Given the description of an element on the screen output the (x, y) to click on. 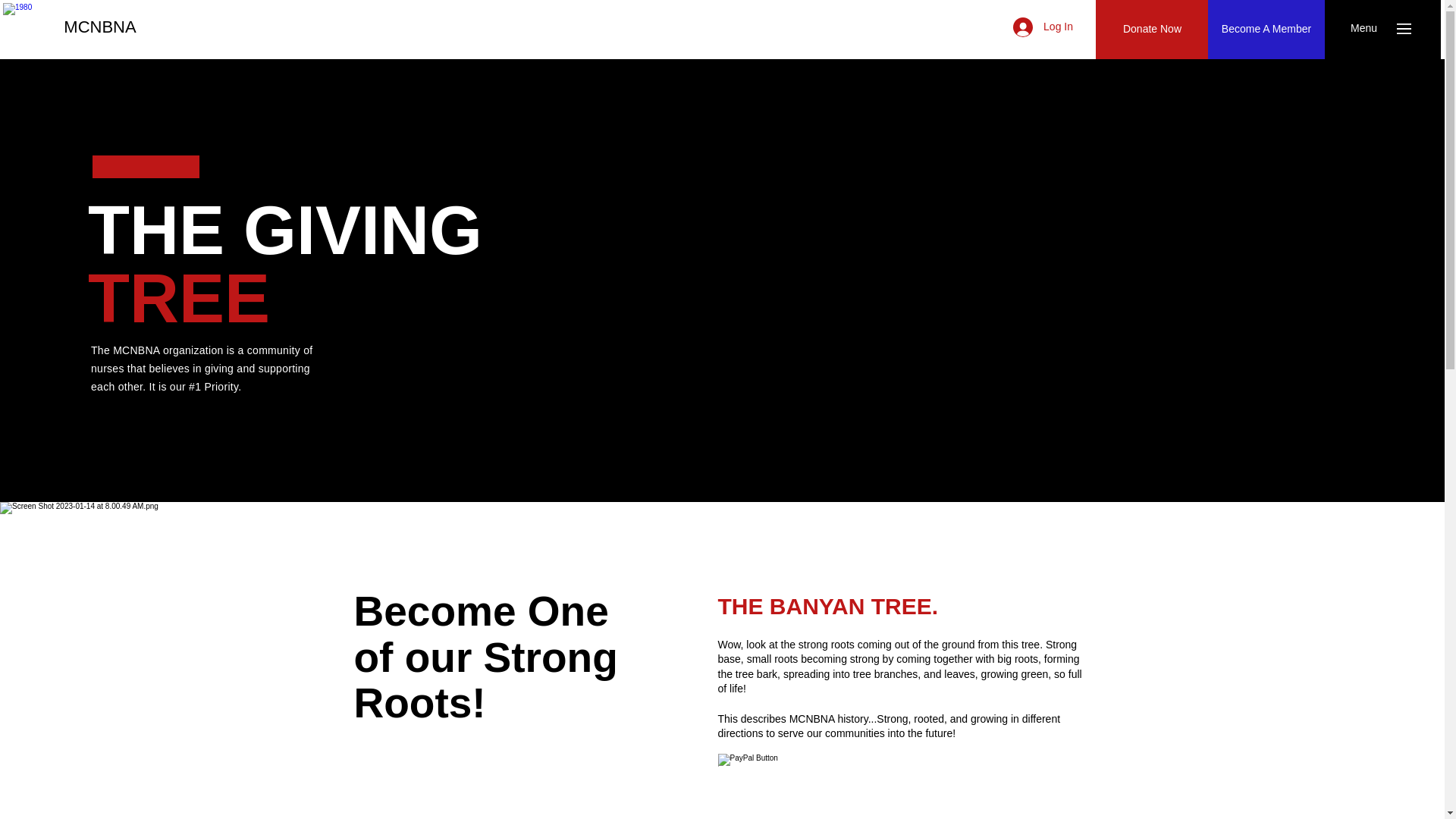
Become A Member (1266, 29)
Donate Now (1152, 29)
MCNBNA (29, 29)
Log In (1043, 27)
MCNBNA (100, 27)
